Given the description of an element on the screen output the (x, y) to click on. 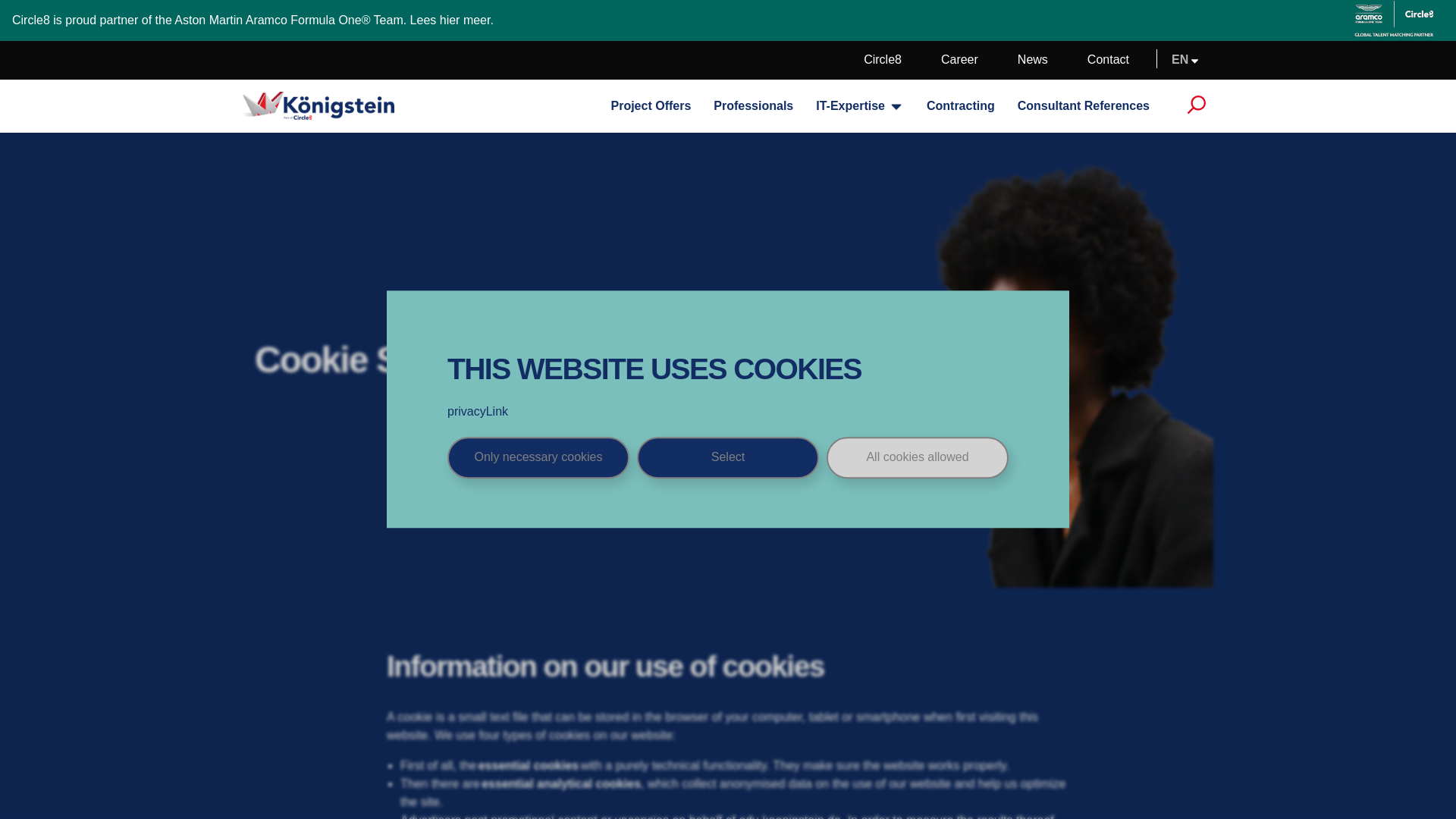
Professionals (753, 106)
privacyLink (727, 411)
All cookies allowed (918, 457)
Contracting (960, 106)
Consultant References (1083, 106)
News (1032, 59)
edv-koenigstein.de (789, 816)
Only necessary cookies (537, 457)
IT-Expertise (850, 106)
Contact (1108, 59)
